Given the description of an element on the screen output the (x, y) to click on. 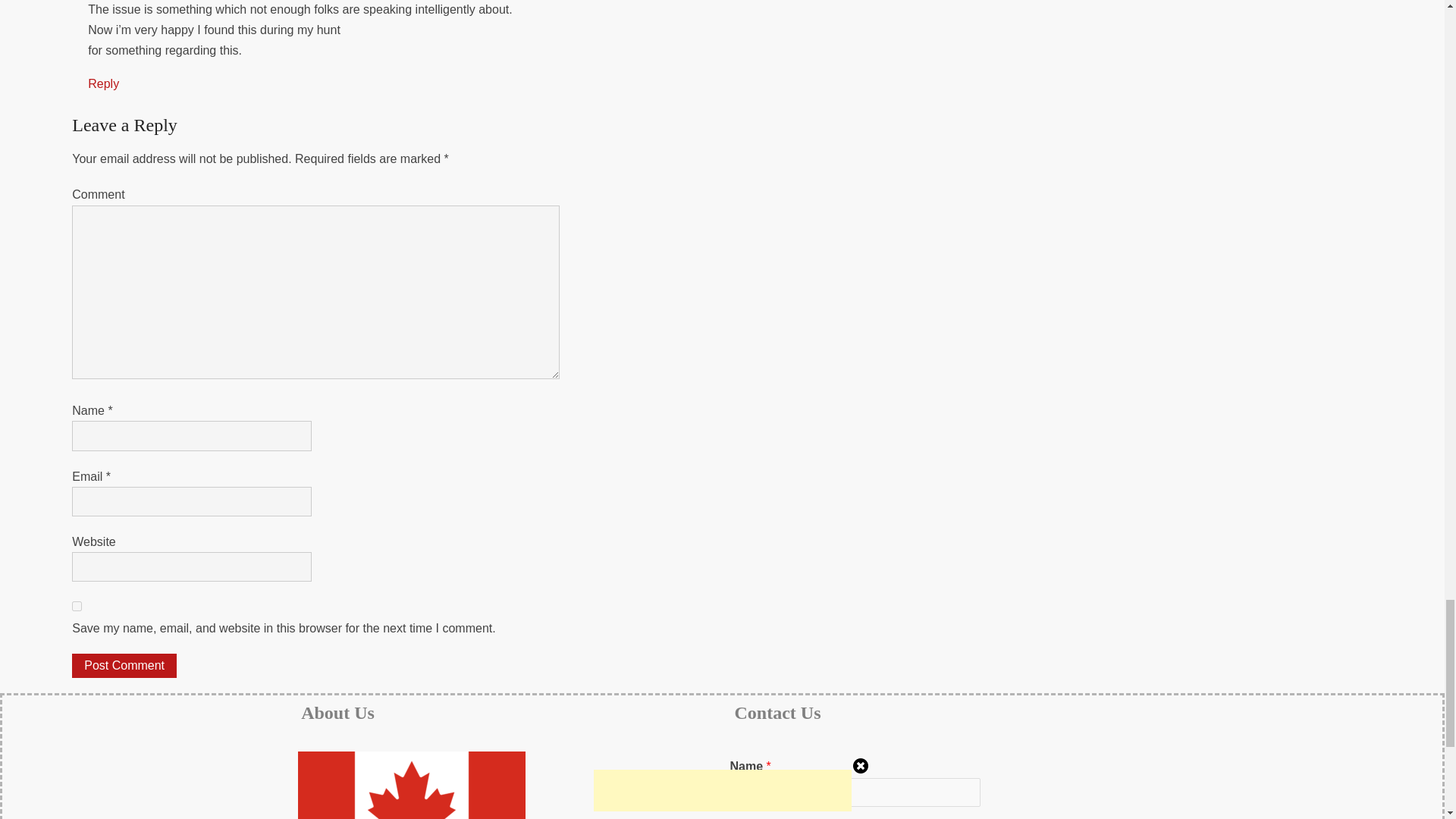
Post Comment (123, 665)
yes (76, 605)
